Given the description of an element on the screen output the (x, y) to click on. 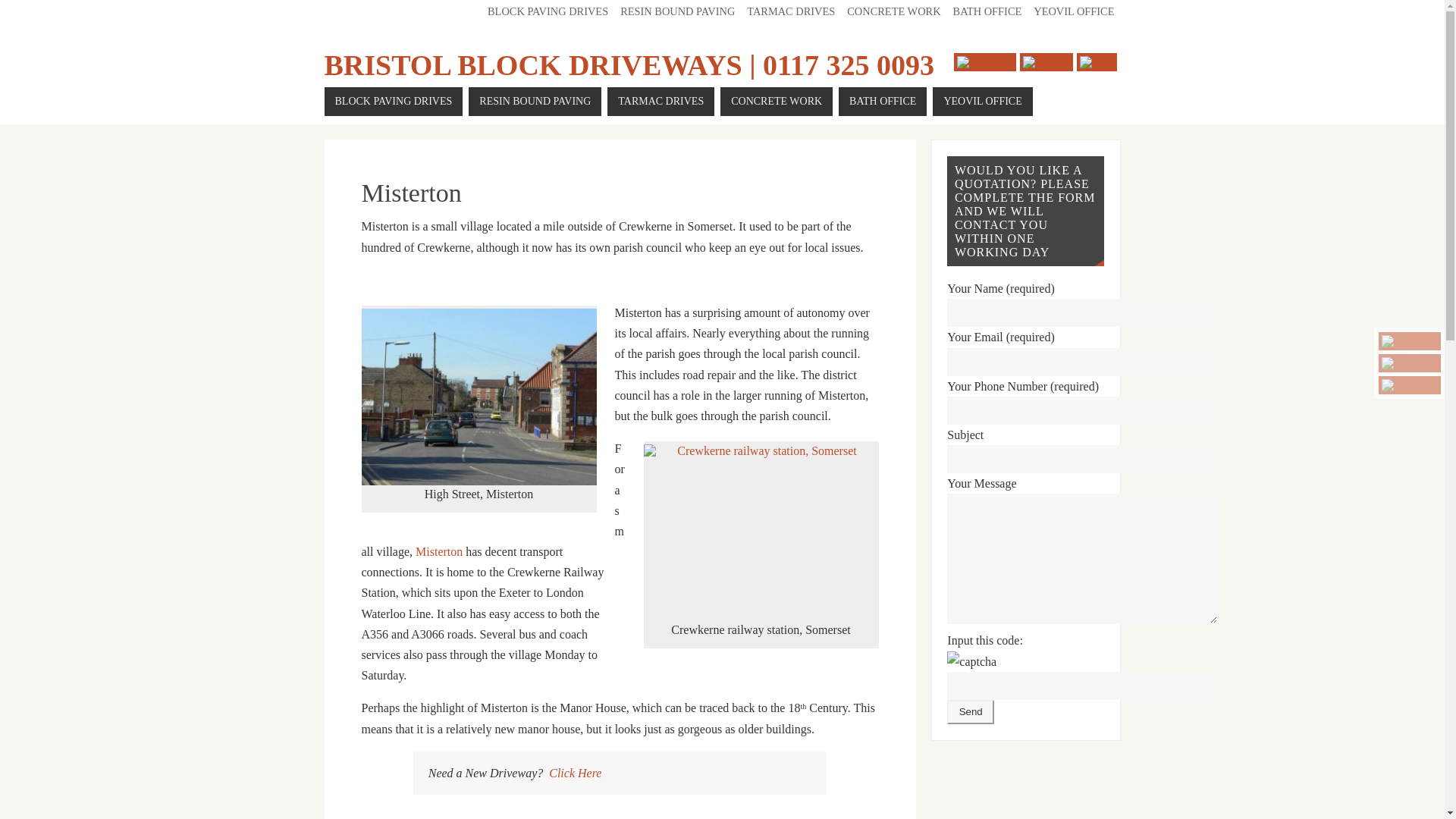
BLOCK PAVING DRIVES (547, 11)
Twitter (1409, 362)
Send (970, 711)
Misterton (438, 551)
YouTube (984, 62)
YEOVIL OFFICE (1073, 11)
BATH OFFICE (882, 101)
RSS (1409, 384)
YouTube (1409, 341)
Send (970, 711)
